Given the description of an element on the screen output the (x, y) to click on. 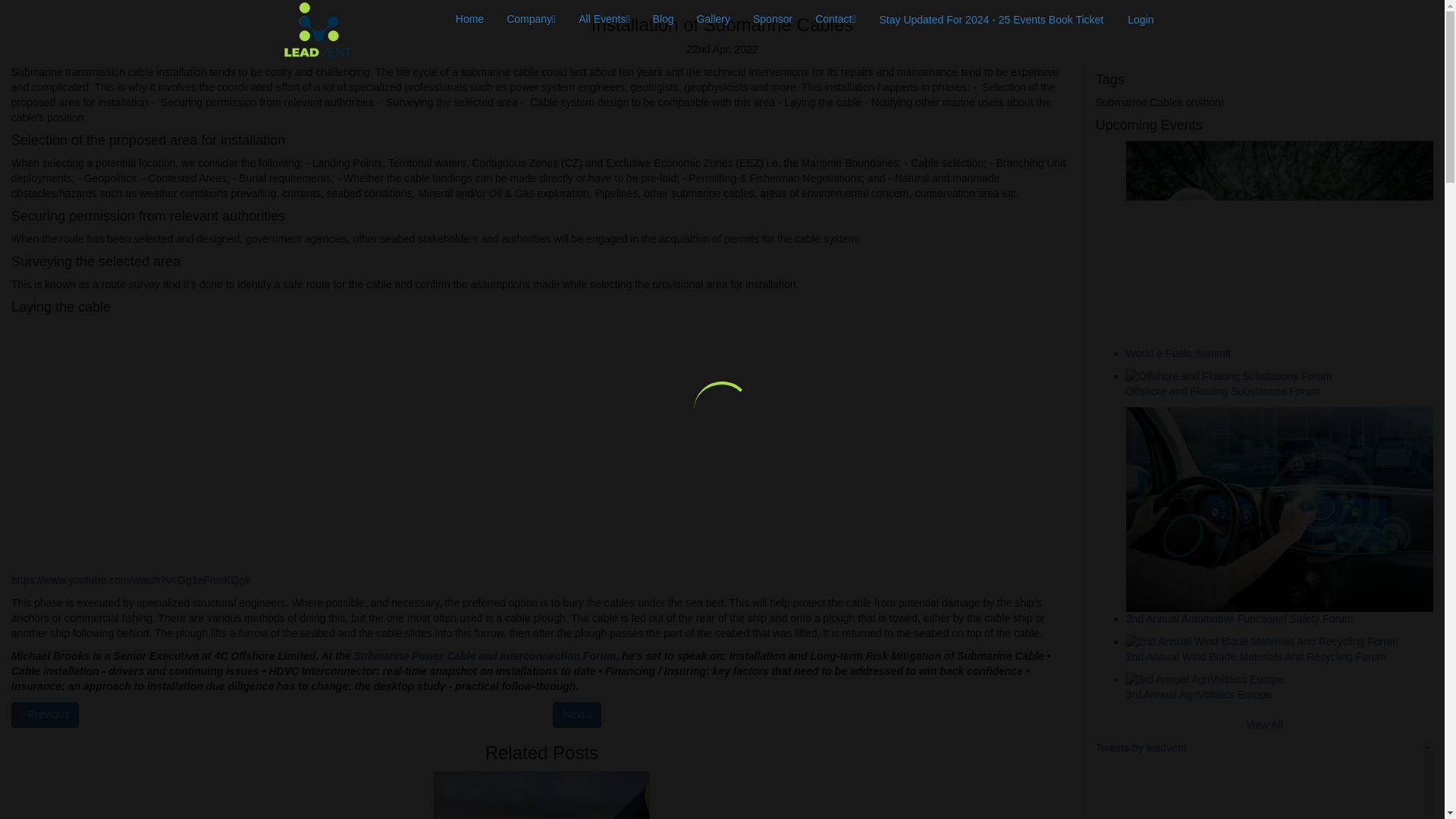
Blog (663, 18)
Next (577, 714)
Login (1140, 19)
Stay Updated For 2024 - 25 Events Book Ticket (991, 19)
Submarine Power Cable and Interconnection Forum (484, 655)
Previous (44, 714)
Sponsor (772, 18)
Gallery (713, 18)
Company (531, 18)
All Events (603, 18)
